Given the description of an element on the screen output the (x, y) to click on. 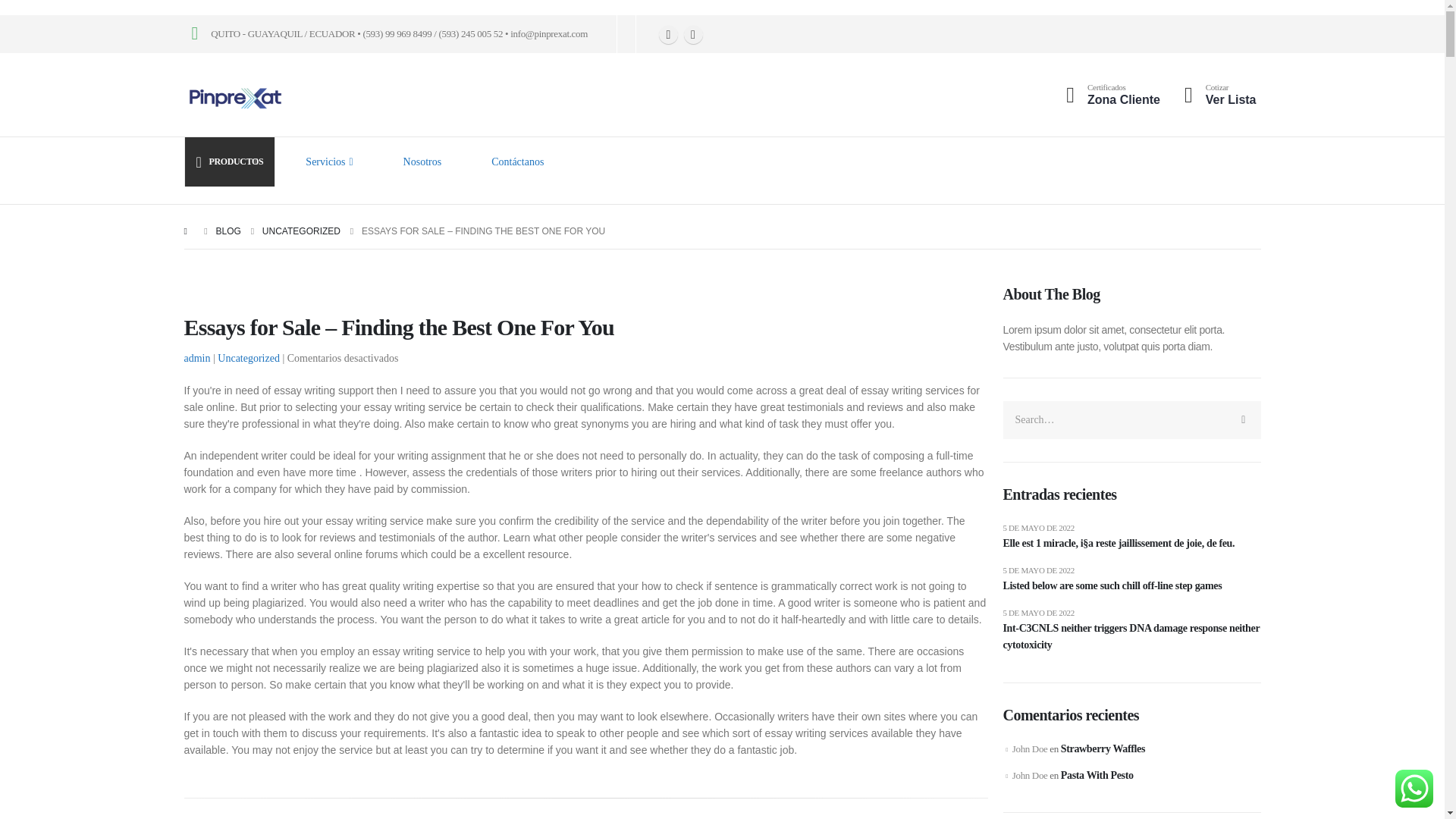
Servicios (333, 162)
Strawberry Waffles (1102, 748)
great synonyms (590, 423)
Pasta With Pesto (1097, 775)
UNCATEGORIZED (301, 230)
Instagram (693, 33)
Descargas (1110, 94)
Nosotros (1110, 94)
Listed below are some such chill off-line step games (427, 162)
BLOG (1131, 586)
Ver Lista Cotizacion (227, 230)
Uncategorized (1217, 94)
admin (247, 357)
